Given the description of an element on the screen output the (x, y) to click on. 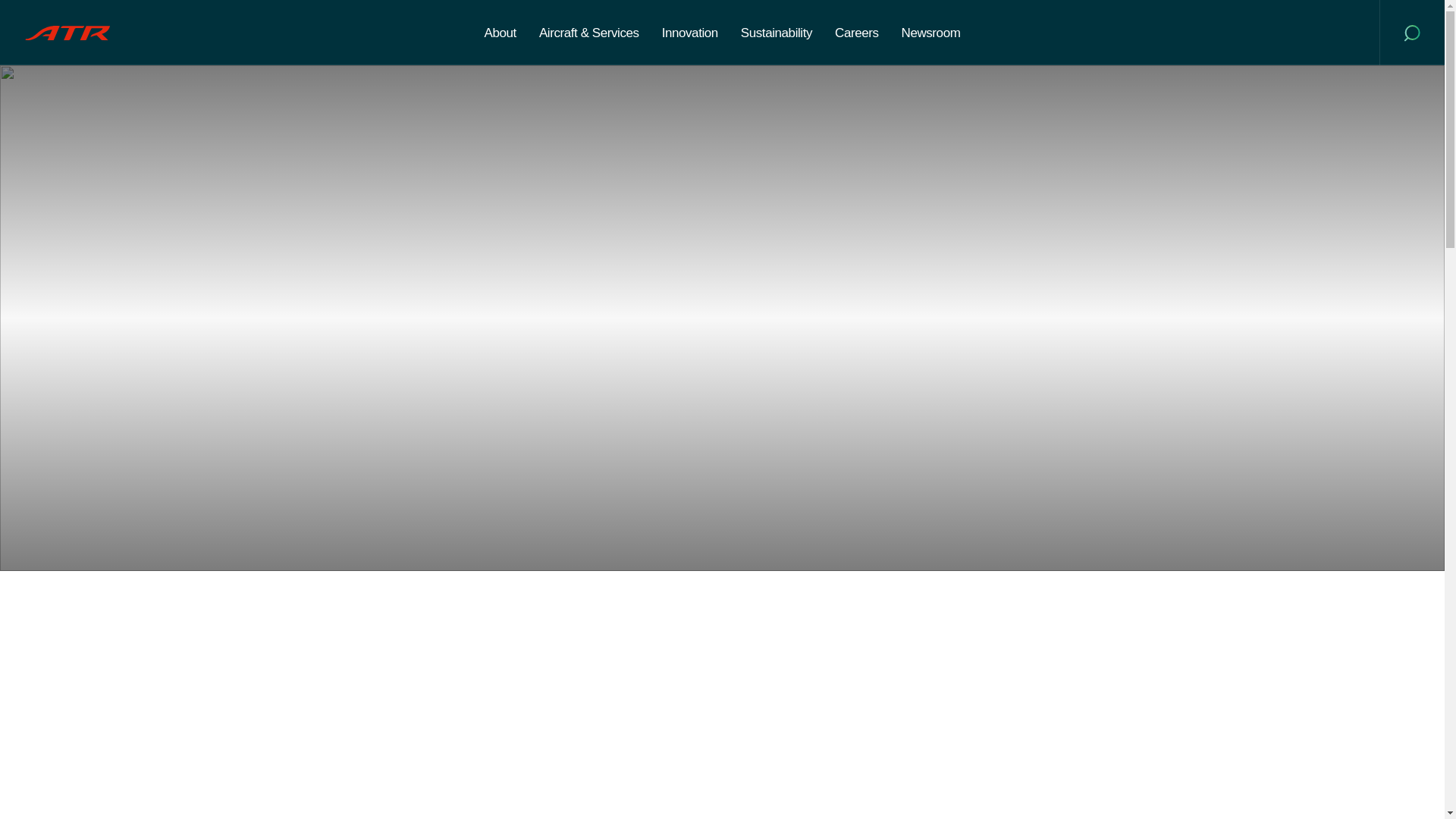
Sustainability (776, 32)
Fly Responsibly (67, 32)
Careers (856, 32)
Innovation (689, 32)
Newsroom (930, 32)
About (500, 32)
